Given the description of an element on the screen output the (x, y) to click on. 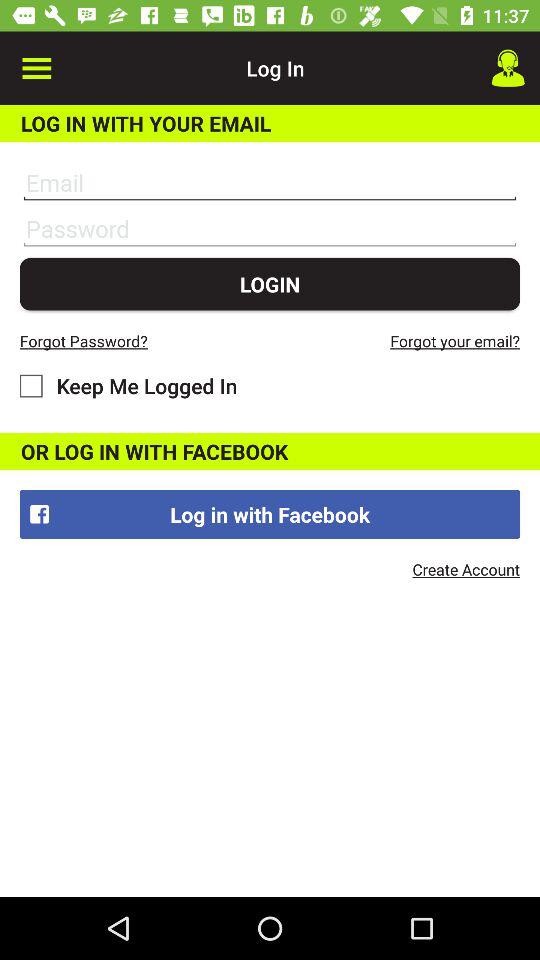
turn off keep me logged item (128, 385)
